Given the description of an element on the screen output the (x, y) to click on. 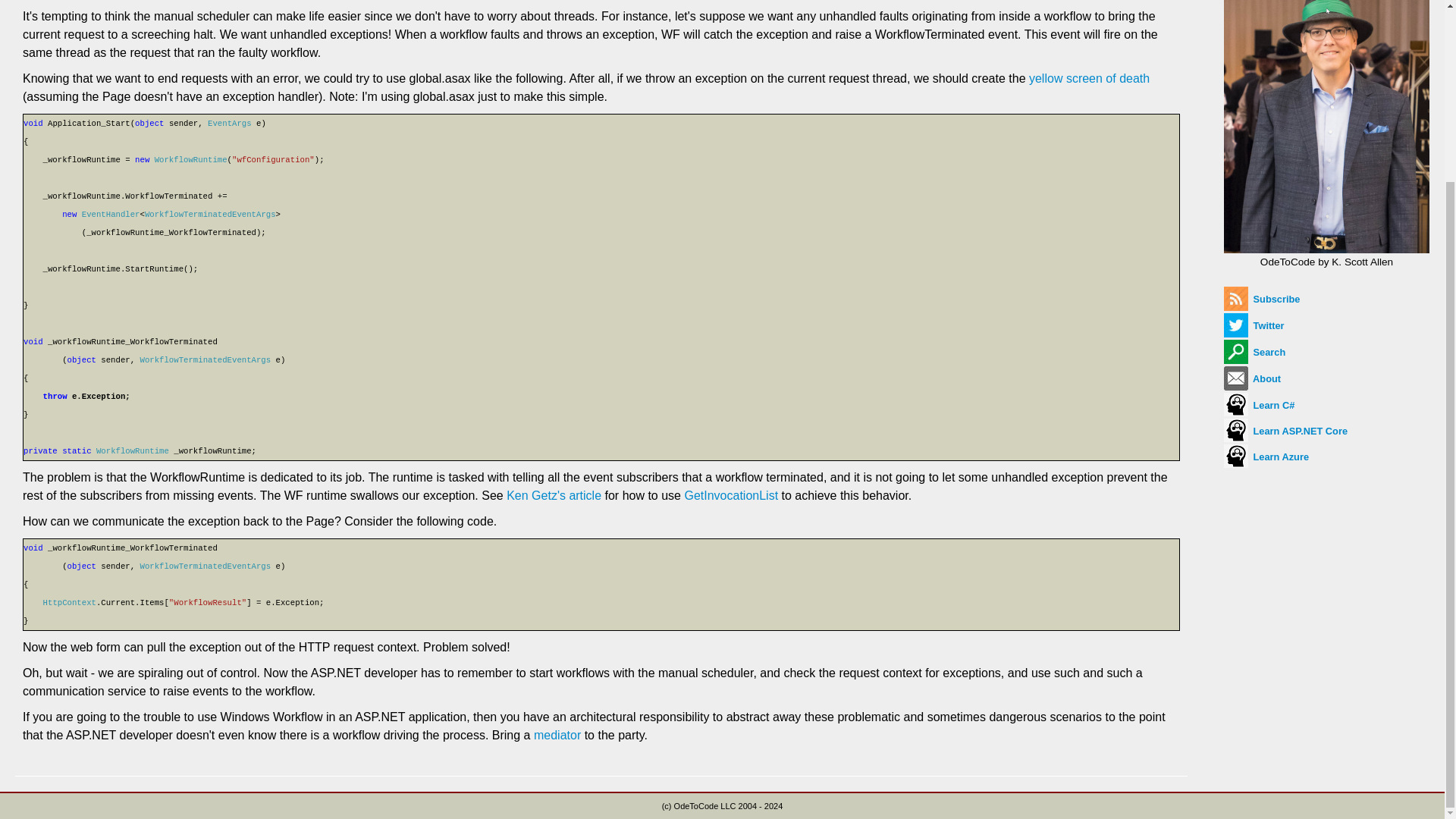
Subscribe to my feed (1262, 298)
Search (1254, 351)
Learn ASP.NET Core (1286, 430)
Ken Getz's article (553, 495)
yellow screen of death (1089, 78)
About (1252, 378)
mediator (557, 735)
Learn Azure (1266, 456)
Twitter (1254, 325)
GetInvocationList (730, 495)
